Given the description of an element on the screen output the (x, y) to click on. 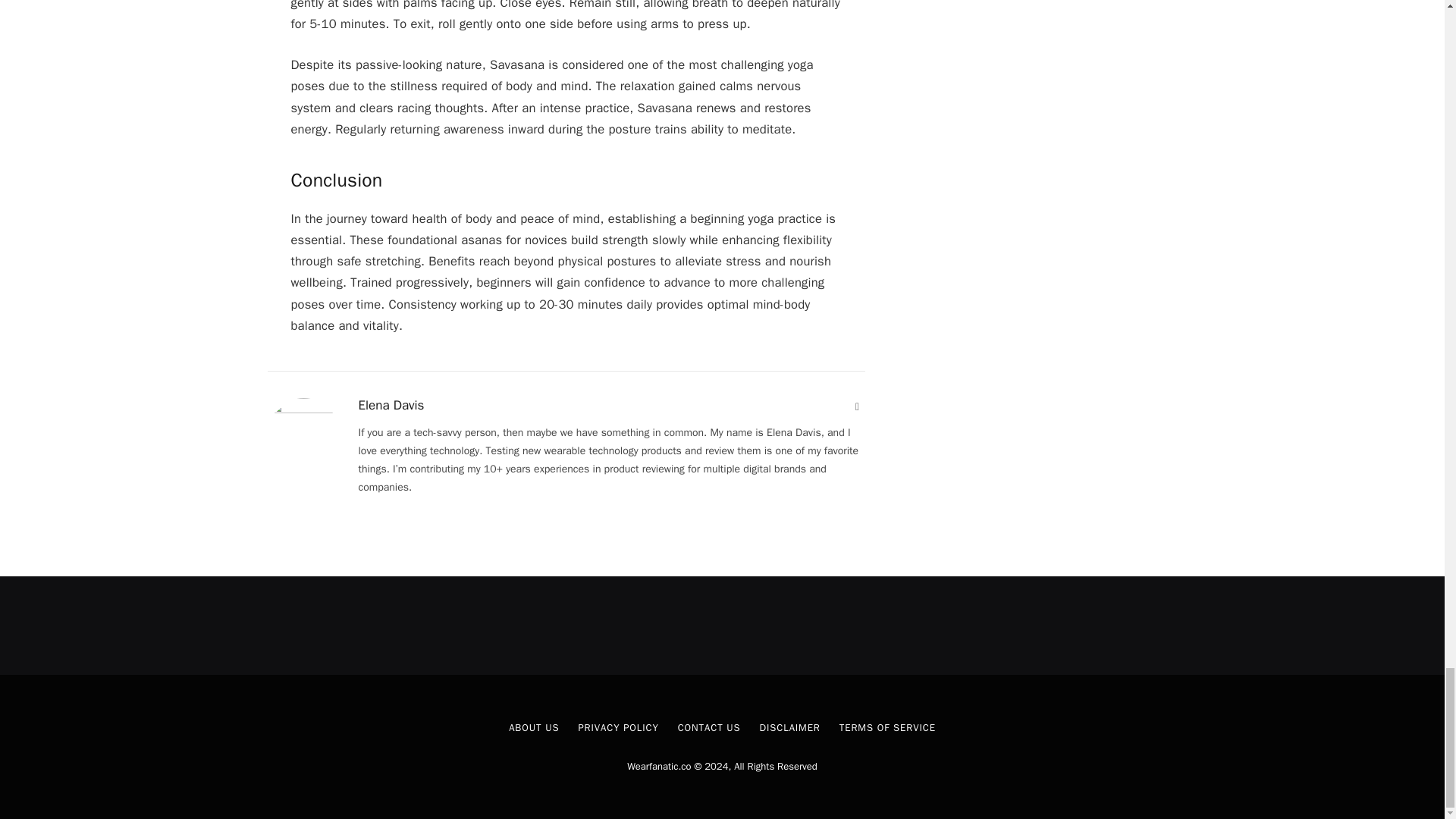
Posts by Elena Davis (390, 405)
Website (856, 406)
Website (856, 406)
Elena Davis (390, 405)
